Given the description of an element on the screen output the (x, y) to click on. 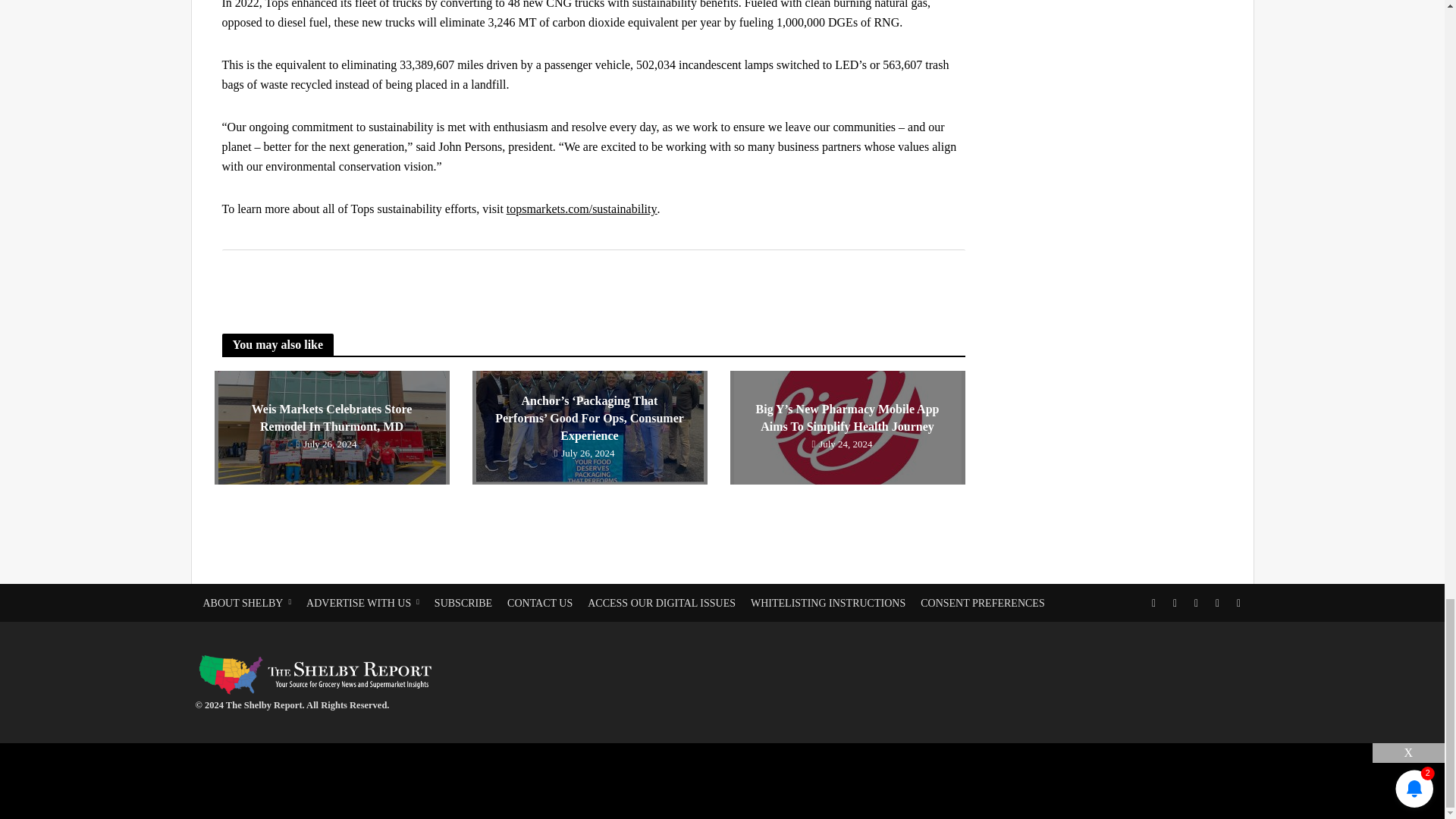
Weis Markets Celebrates Store Remodel In Thurmont, MD (331, 417)
